Given the description of an element on the screen output the (x, y) to click on. 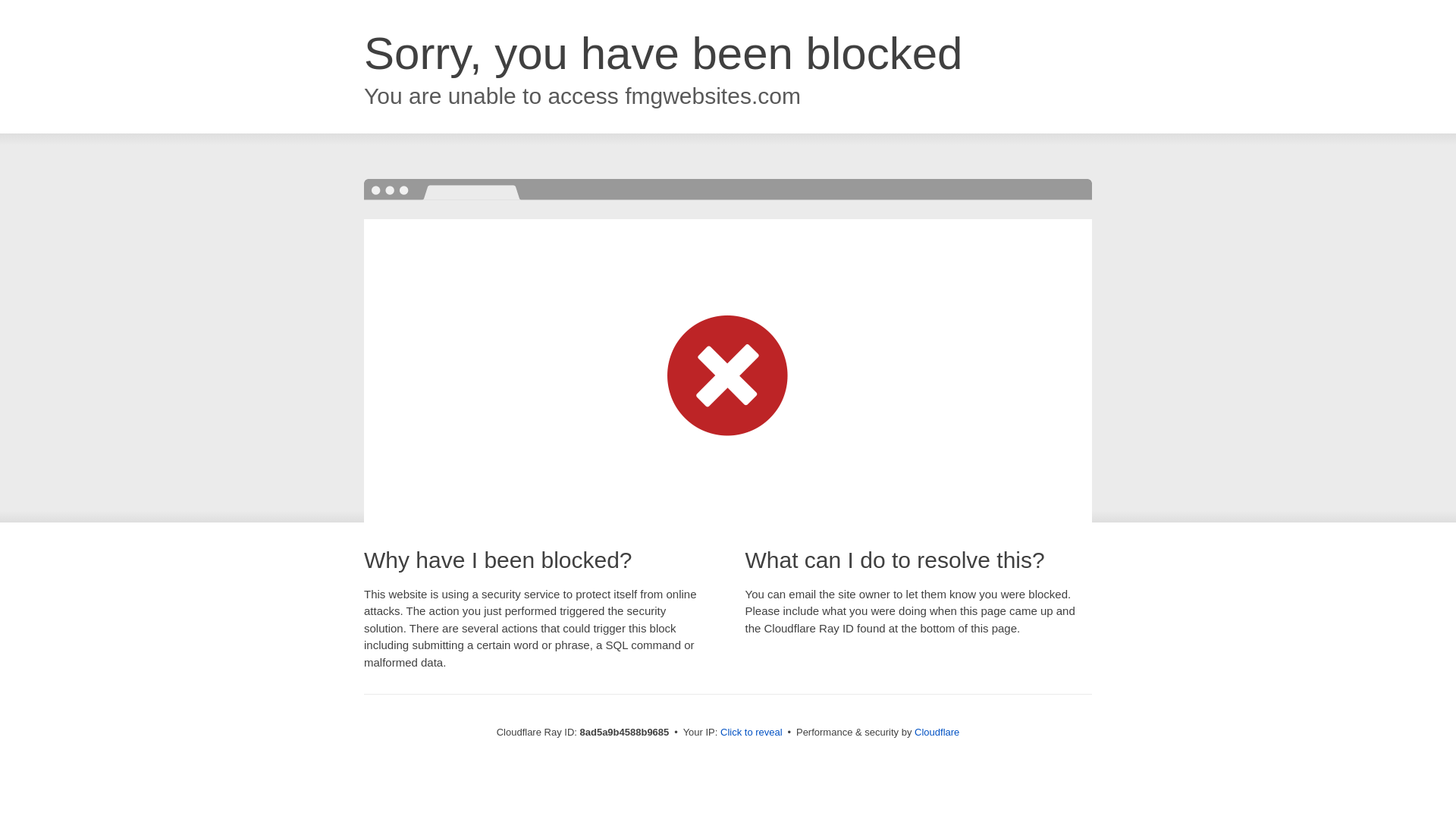
Cloudflare (936, 731)
Click to reveal (751, 732)
